Given the description of an element on the screen output the (x, y) to click on. 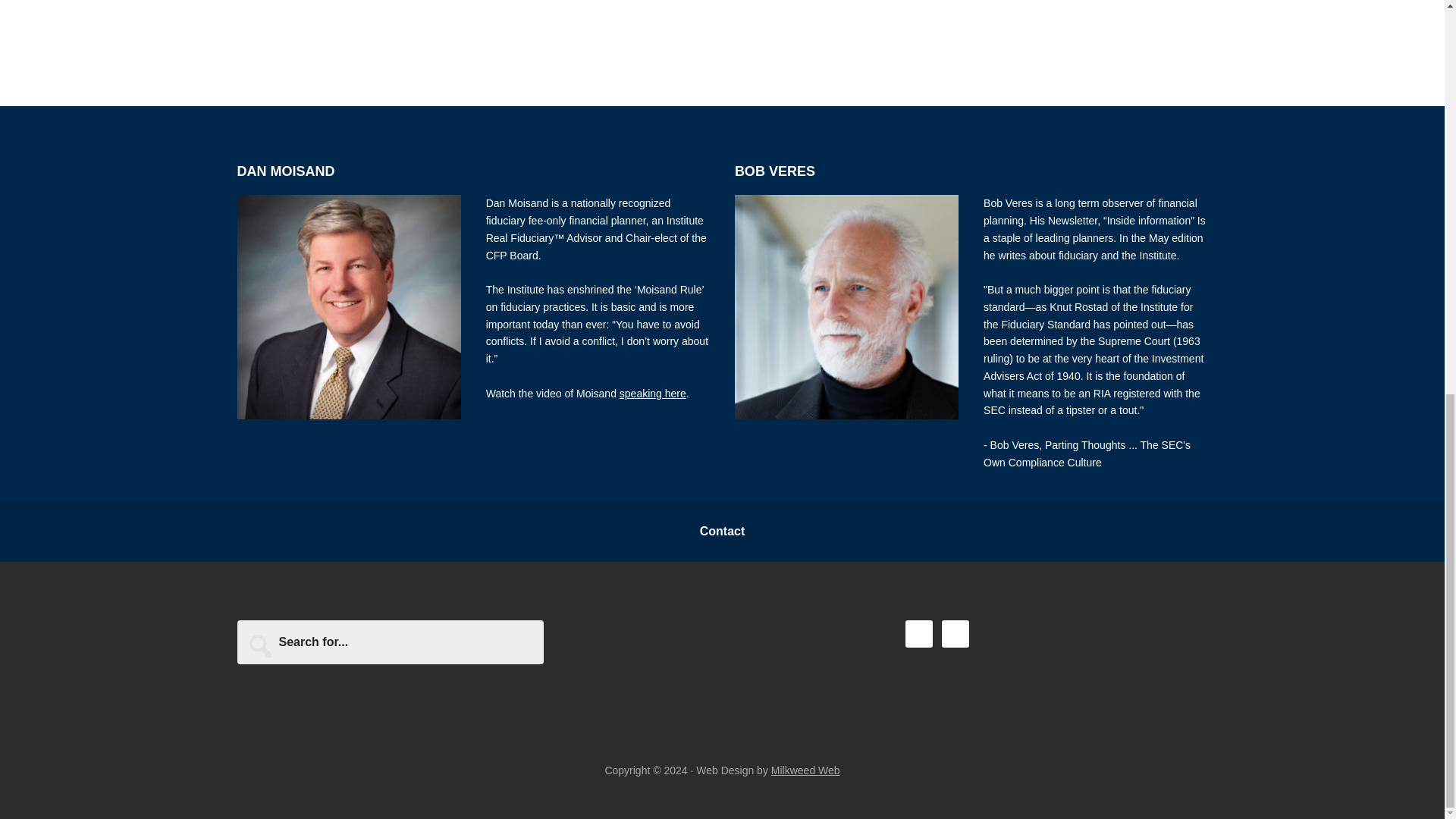
Bob Veres (846, 306)
